Given the description of an element on the screen output the (x, y) to click on. 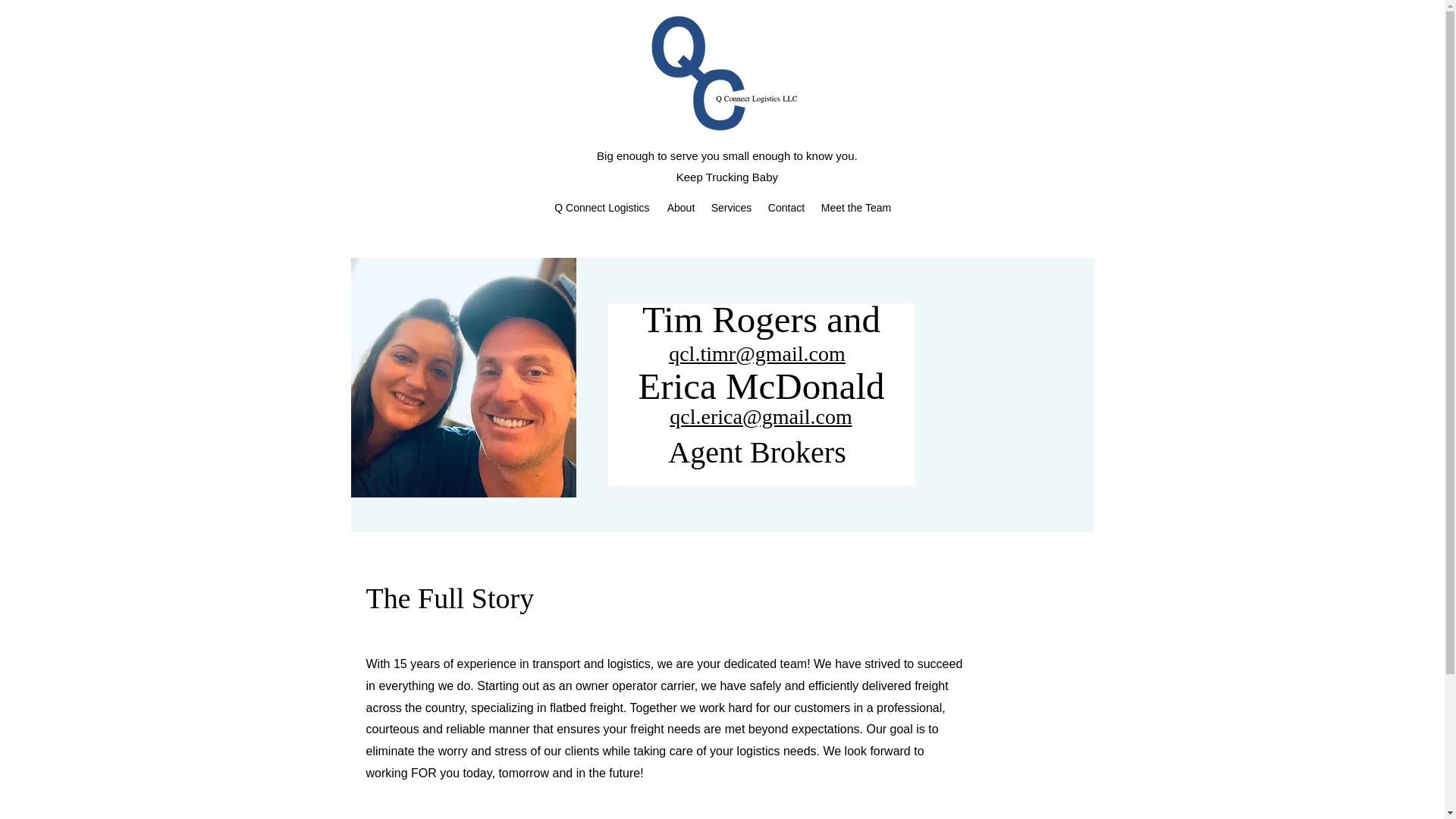
Meet the Team (855, 207)
About (681, 207)
Services (731, 207)
Contact (786, 207)
Q Connect Logistics (601, 207)
